Given the description of an element on the screen output the (x, y) to click on. 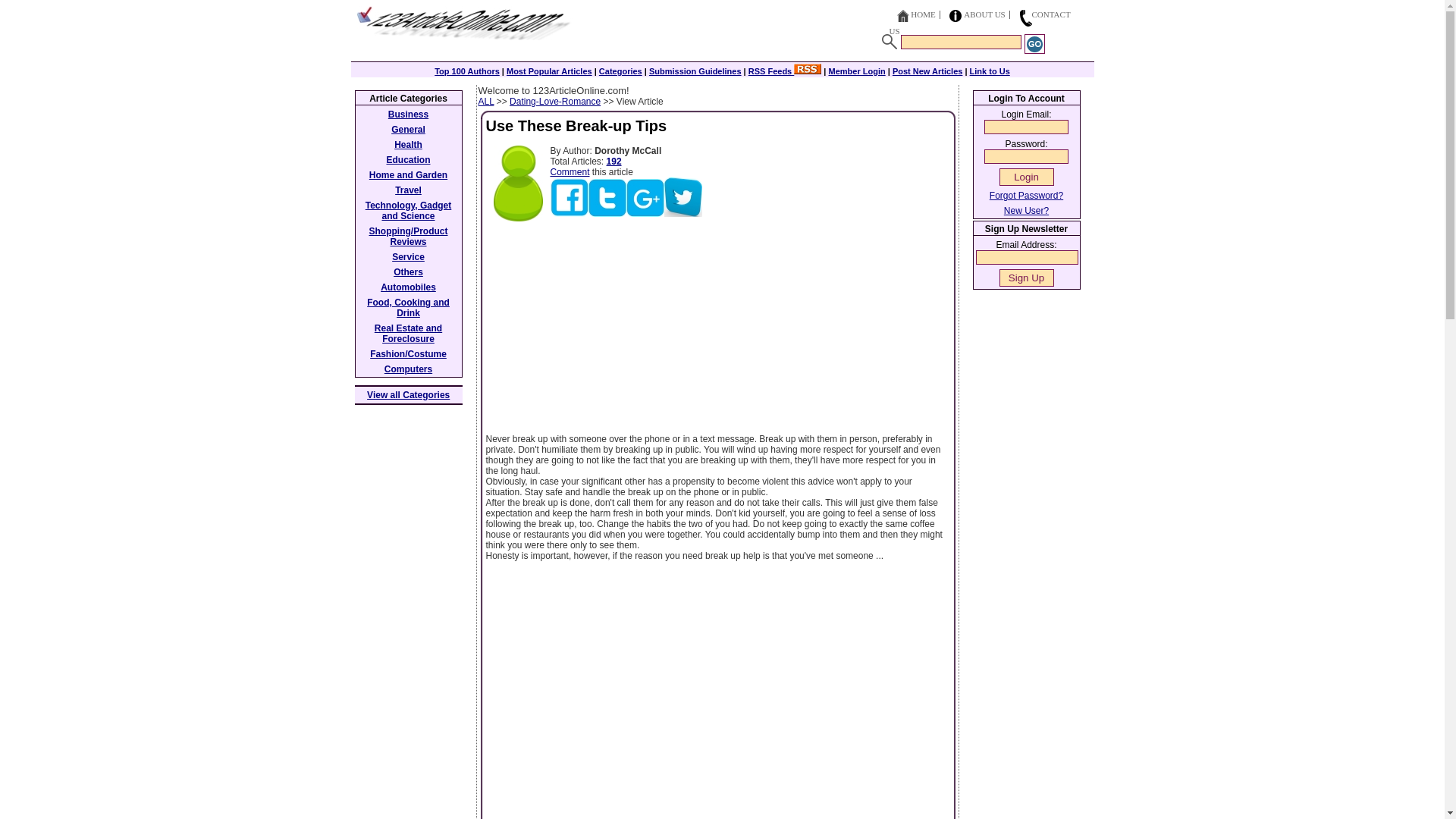
Submission Guidelines (695, 71)
192 (614, 161)
Top 100 Authors (466, 71)
Categories (620, 71)
Comment (569, 172)
ALL (485, 101)
Dating-Love-Romance (554, 101)
Most Popular Articles (549, 71)
